Given the description of an element on the screen output the (x, y) to click on. 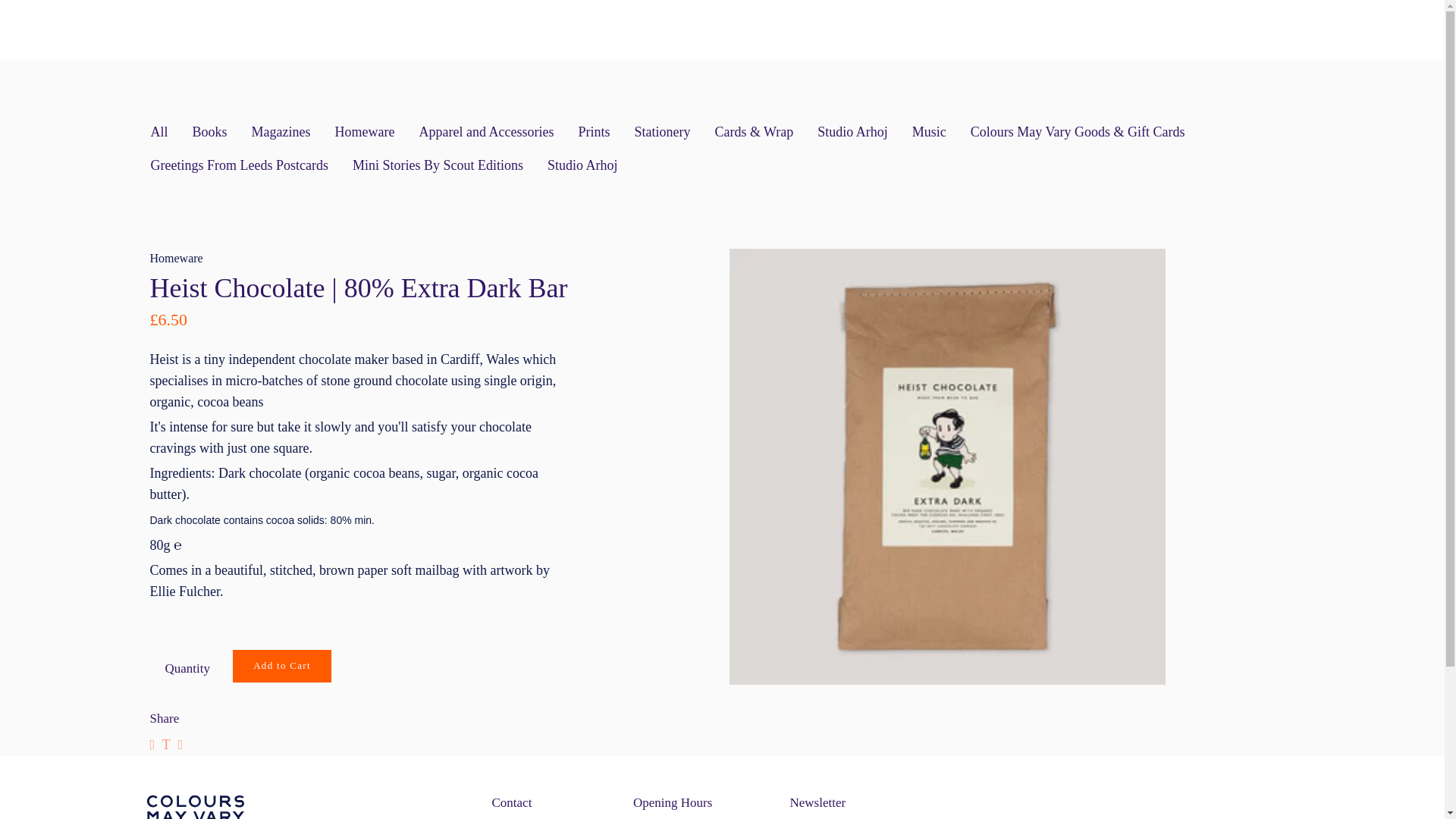
Add to Cart (281, 666)
Mini Stories By Scout Editions (437, 165)
Apparel and Accessories (486, 131)
Books (209, 131)
Tweet on Twitter (165, 744)
Share on Facebook (152, 744)
Share on Facebook (152, 744)
Homeware (364, 131)
Tweet on Twitter (165, 744)
Stationery (661, 131)
Studio Arhoj (582, 165)
All (158, 131)
Music (929, 131)
Studio Arhoj (852, 131)
Greetings From Leeds Postcards (238, 165)
